Given the description of an element on the screen output the (x, y) to click on. 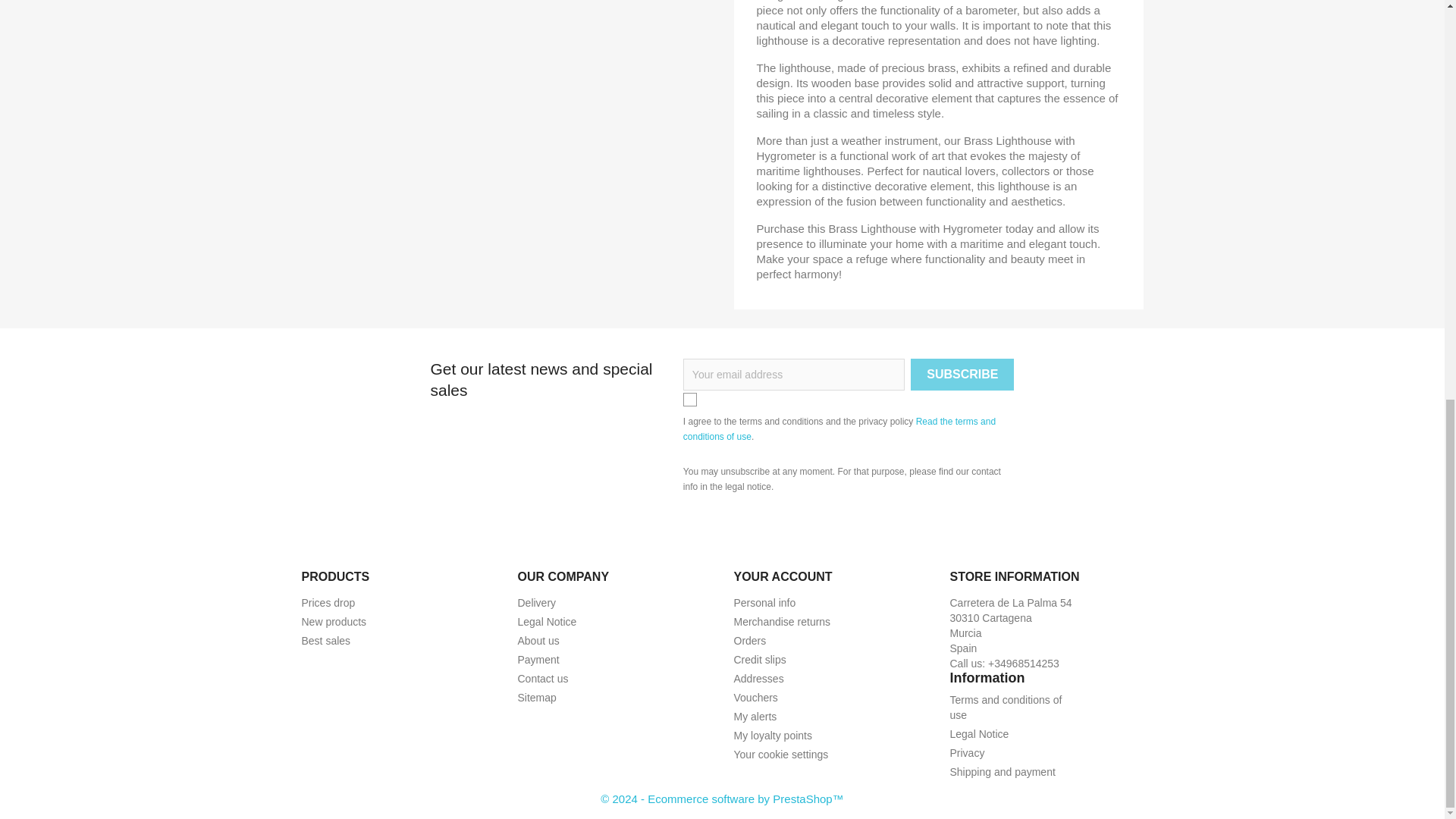
Learn more about us (537, 640)
Our terms and conditions of delivery (536, 603)
Payments (537, 659)
Lost? Find what your are looking for (536, 697)
Legal notice (546, 621)
Our best sales (325, 640)
Our special products (328, 603)
Subscribe (962, 374)
Our new products (333, 621)
Use our form to contact us (541, 678)
